Given the description of an element on the screen output the (x, y) to click on. 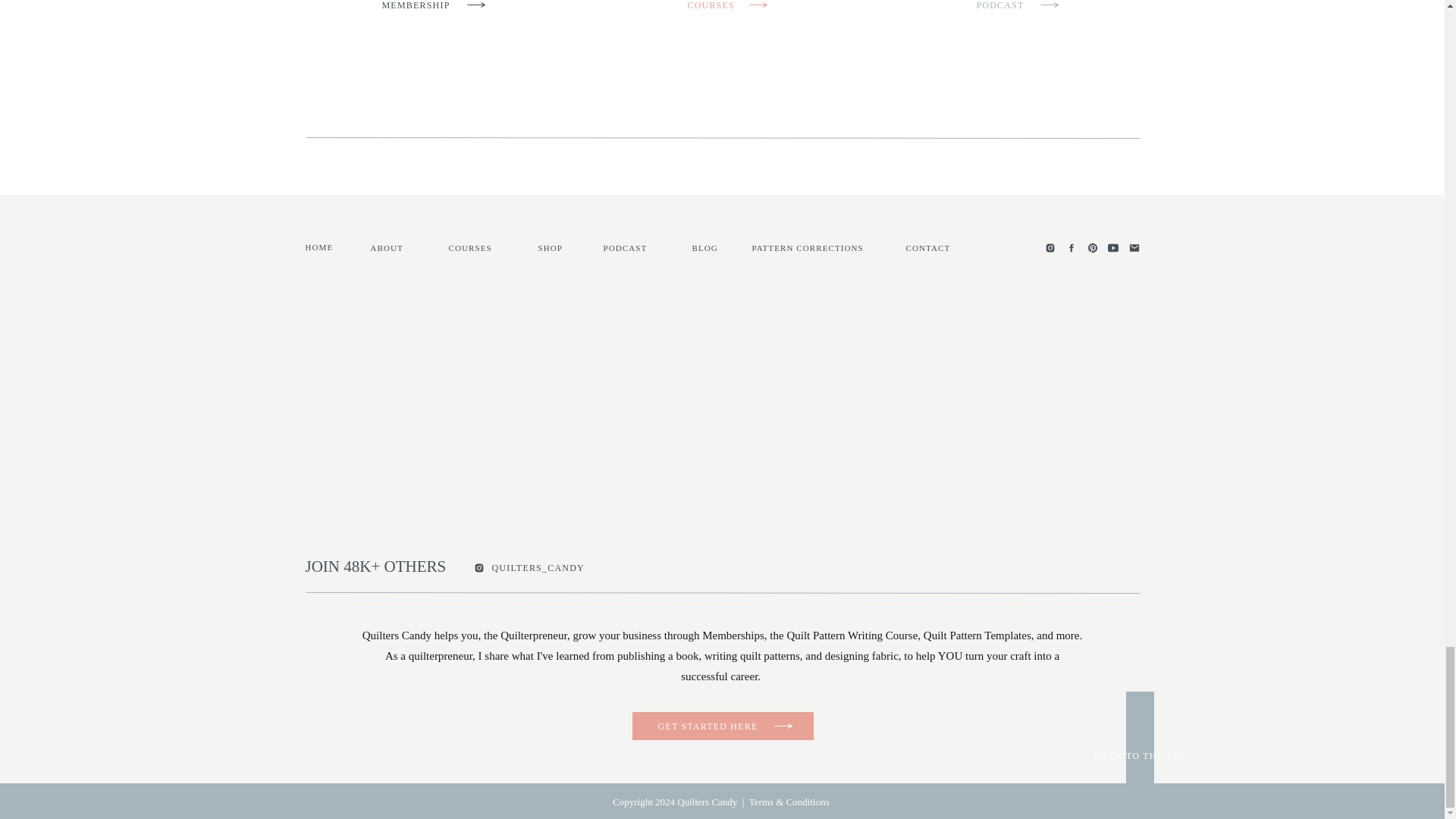
pressing mat (370, 121)
iron (348, 60)
